Given the description of an element on the screen output the (x, y) to click on. 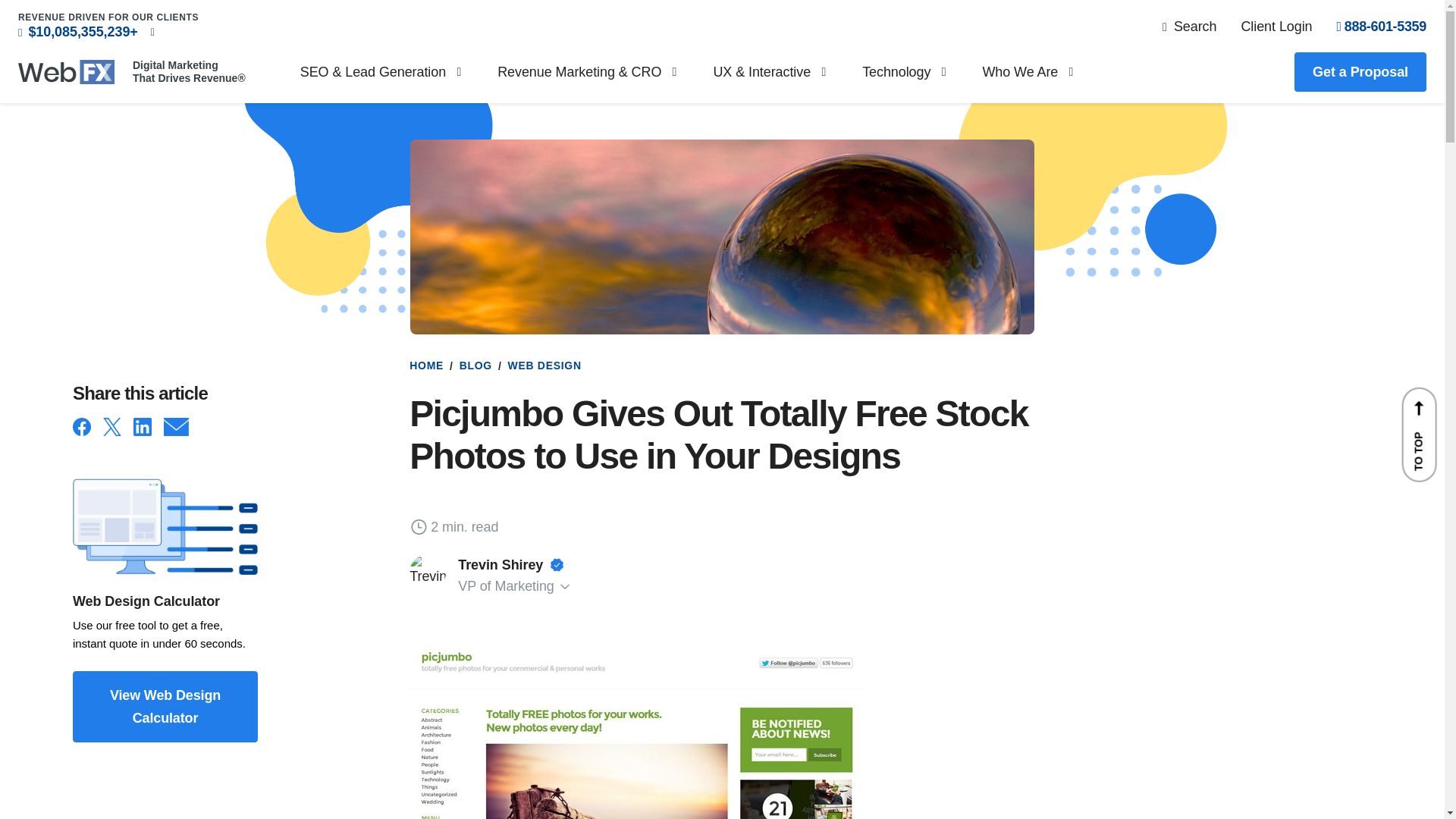
Search (1189, 26)
888-601-5359 (1381, 26)
Client Login (1275, 26)
